Given the description of an element on the screen output the (x, y) to click on. 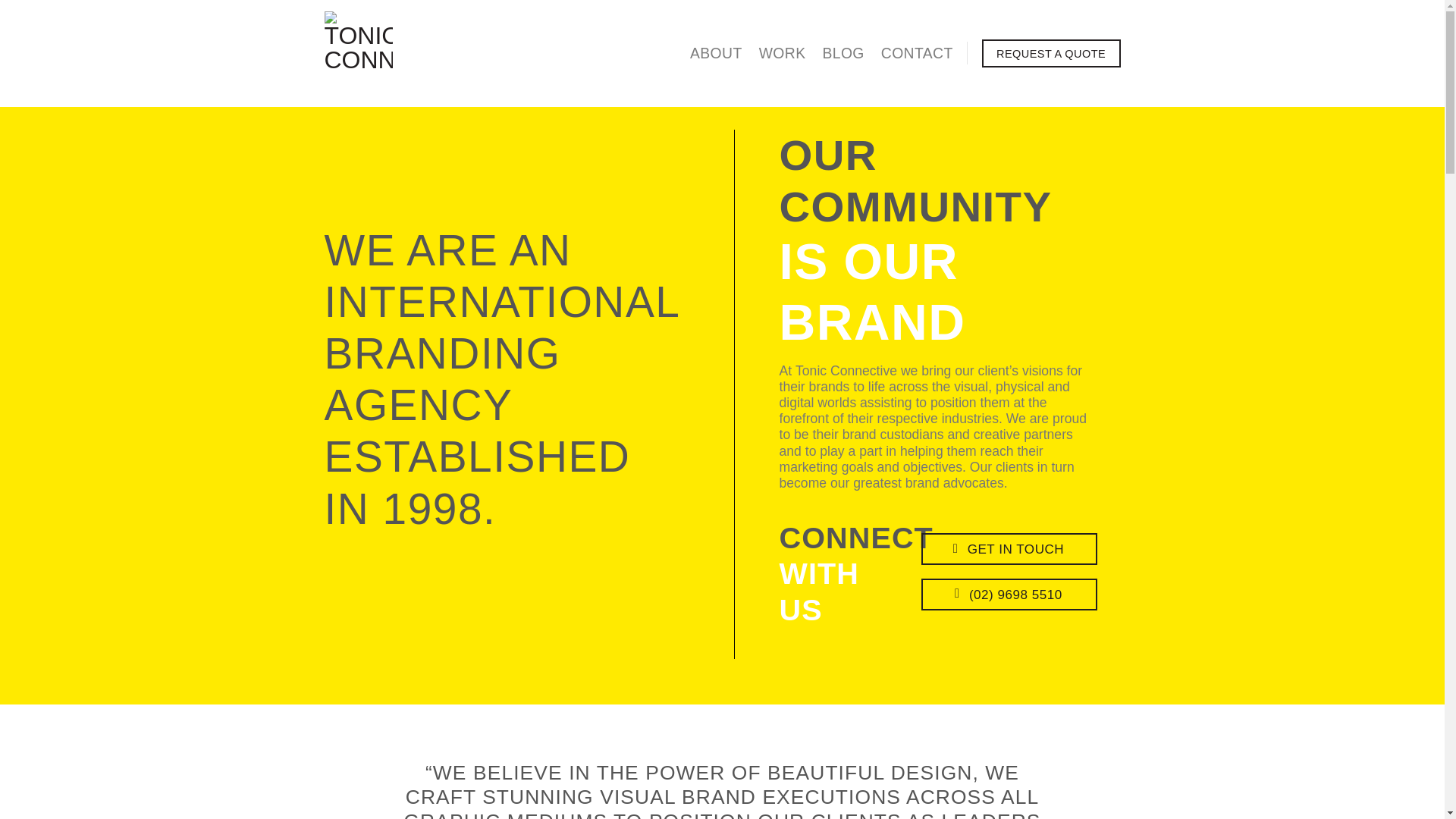
BLOG (842, 52)
WORK (782, 52)
GET IN TOUCH (1009, 549)
CONTACT (916, 52)
REQUEST A QUOTE (1051, 53)
ABOUT (716, 52)
